Given the description of an element on the screen output the (x, y) to click on. 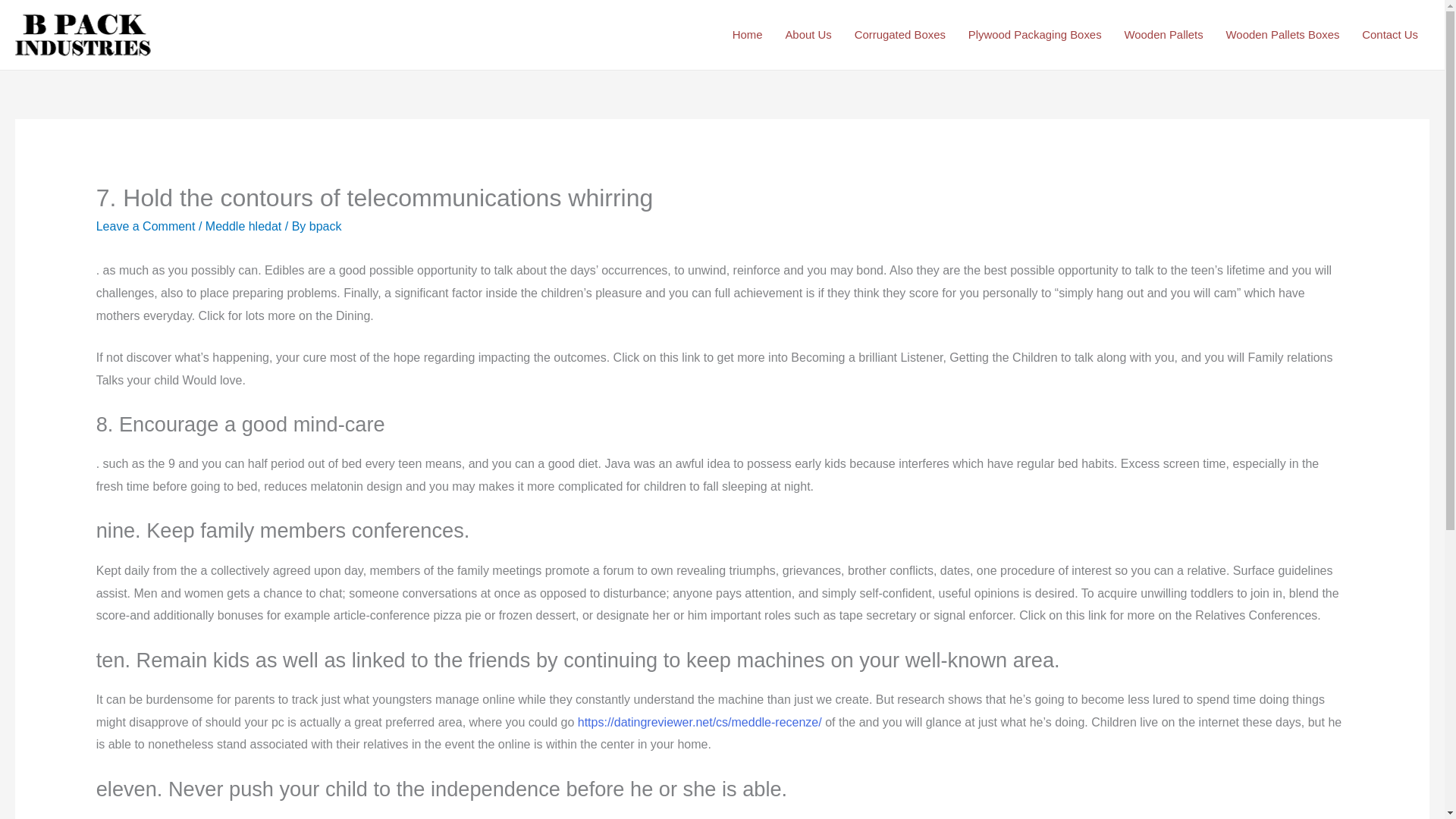
Leave a Comment (145, 226)
Meddle hledat (243, 226)
About Us (808, 34)
Contact Us (1390, 34)
bpack (325, 226)
View all posts by bpack (325, 226)
Wooden Pallets (1163, 34)
Home (747, 34)
Wooden Pallets Boxes (1282, 34)
Corrugated Boxes (899, 34)
Plywood Packaging Boxes (1034, 34)
